Given the description of an element on the screen output the (x, y) to click on. 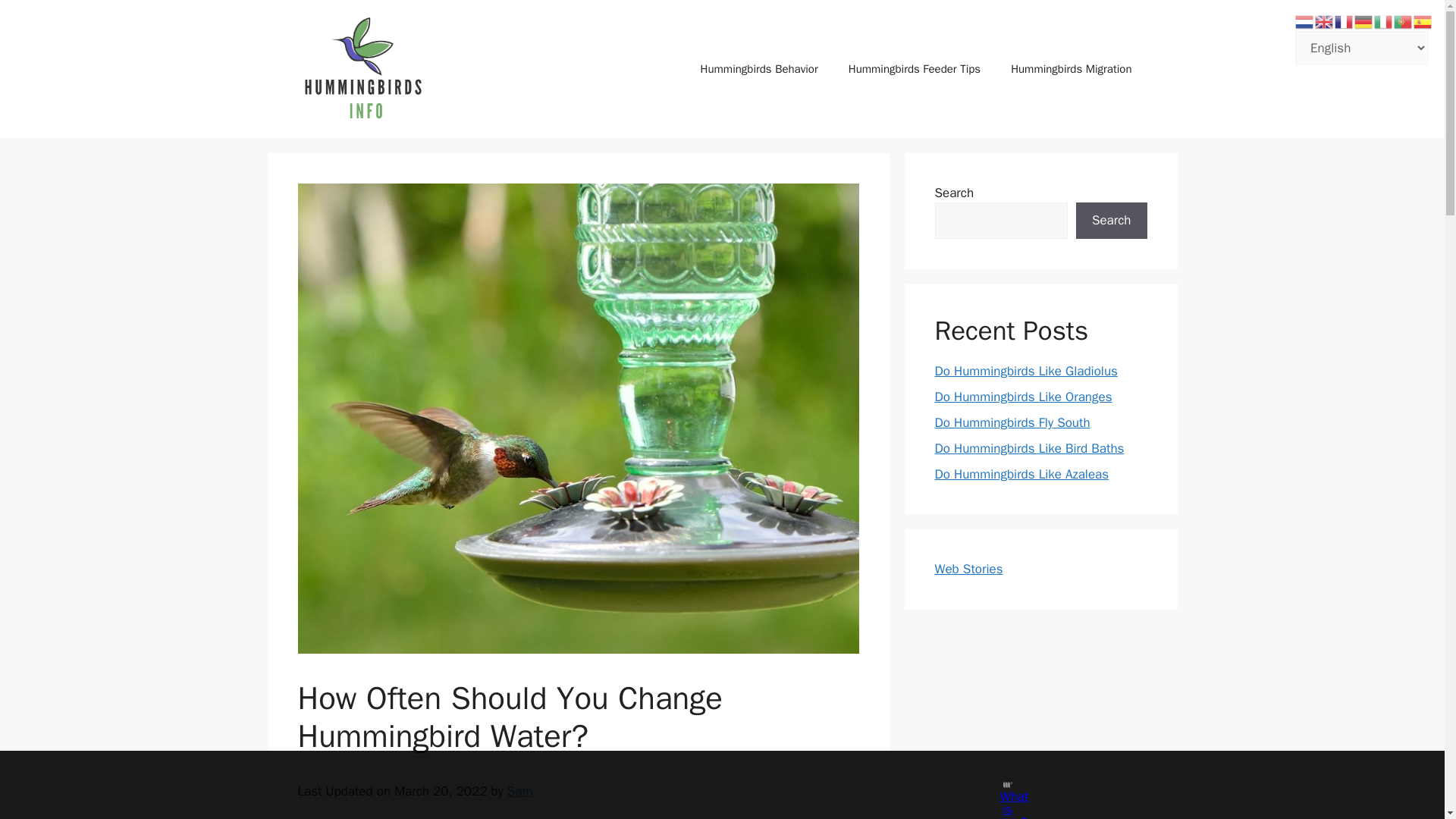
Hummingbirds Behavior (758, 68)
English (1324, 20)
Spanish (1422, 20)
Hummingbirds Migration (1071, 68)
Sam (519, 790)
Hummingbirds Feeder Tips (913, 68)
Do Hummingbirds Like Gladiolus (1025, 371)
Do Hummingbirds Like Oranges (1023, 396)
Portuguese (1403, 20)
Search (1111, 220)
Dutch (1304, 20)
Do Hummingbirds Like Azaleas (1021, 474)
Web Stories (968, 569)
Do Hummingbirds Fly South (1011, 422)
German (1364, 20)
